Given the description of an element on the screen output the (x, y) to click on. 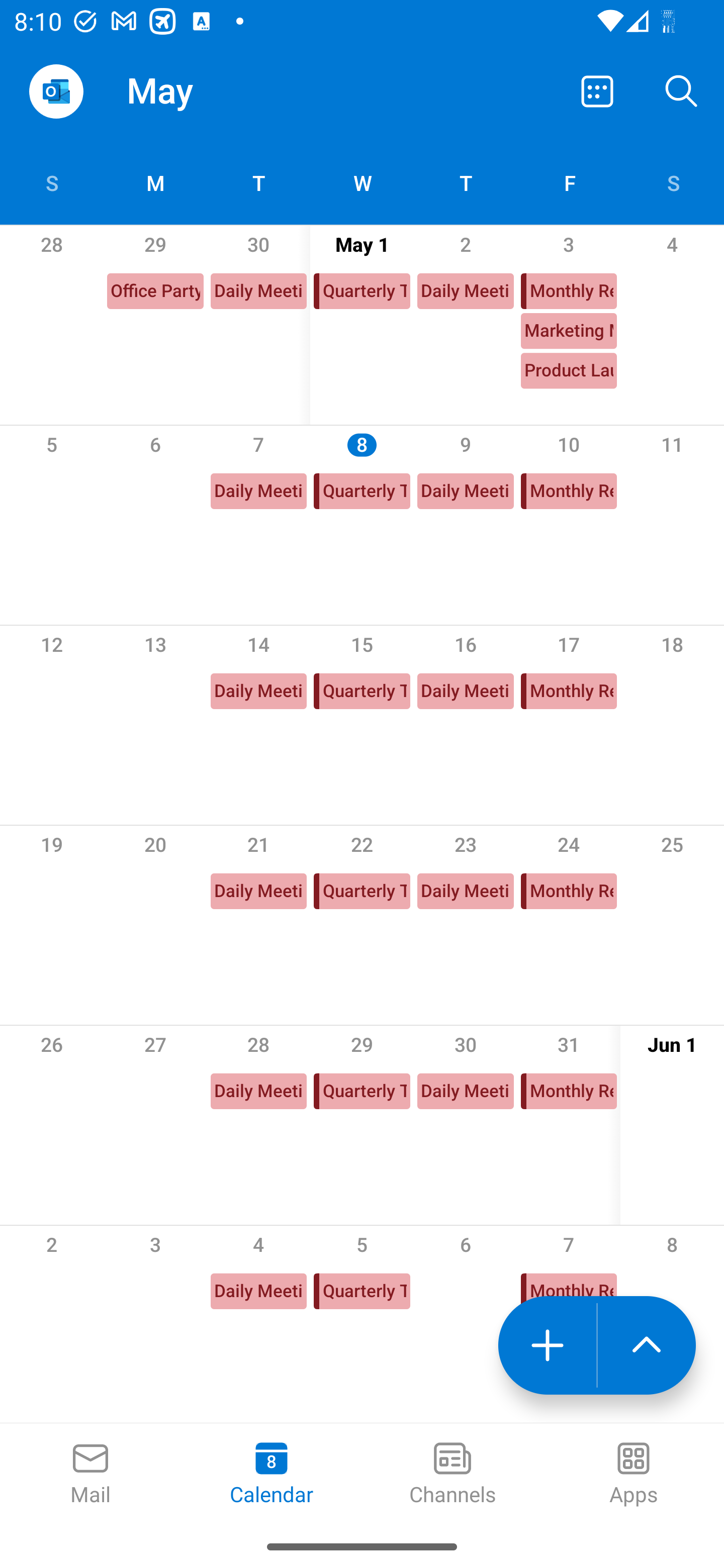
May May 2024, day picker (203, 90)
Switch away from Month view (597, 90)
Search, ,  (681, 90)
Open Navigation Drawer (55, 91)
